Given the description of an element on the screen output the (x, y) to click on. 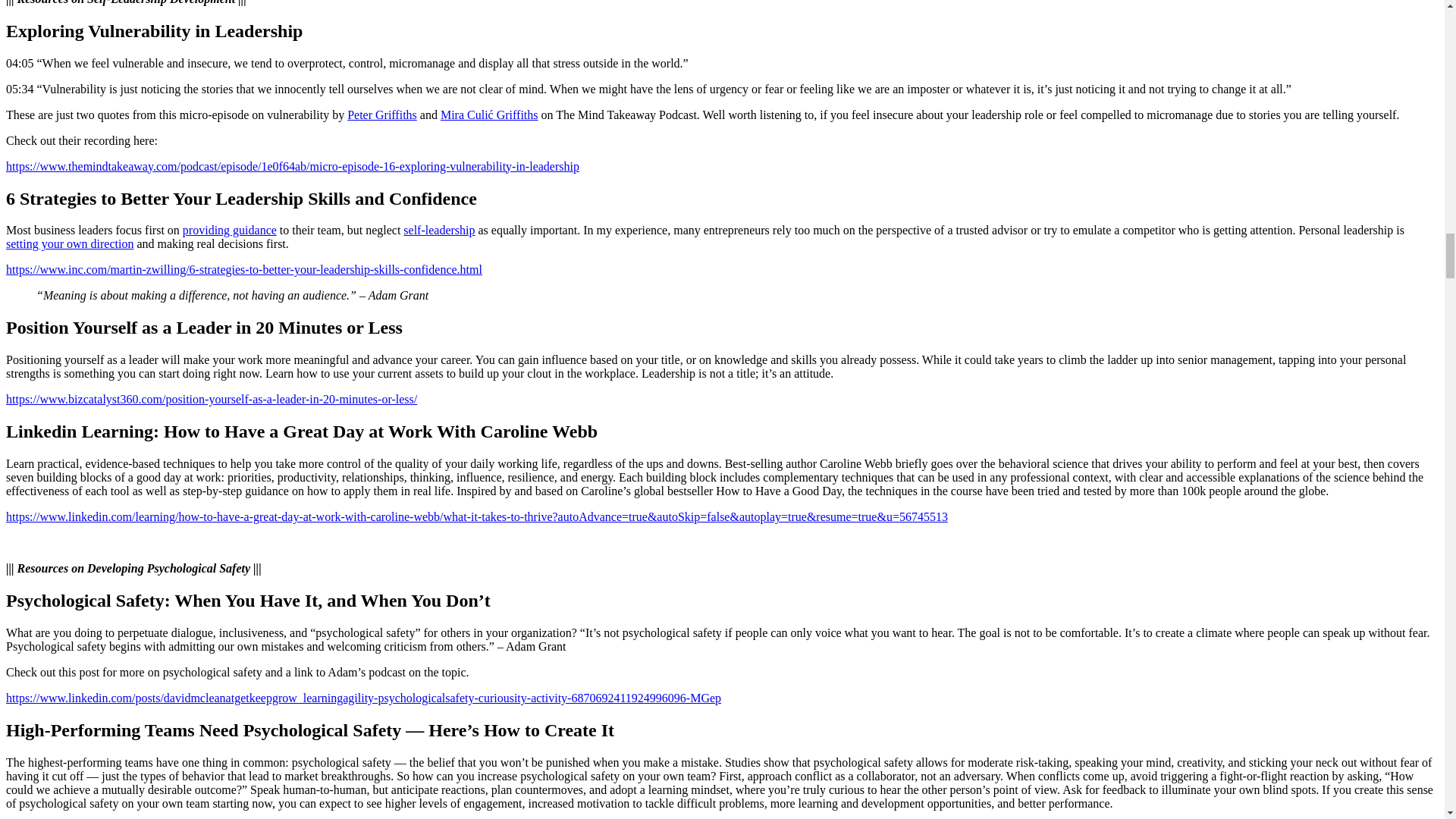
setting your own direction (69, 243)
providing guidance (229, 229)
self-leadership (438, 229)
Peter Griffiths (381, 114)
